Given the description of an element on the screen output the (x, y) to click on. 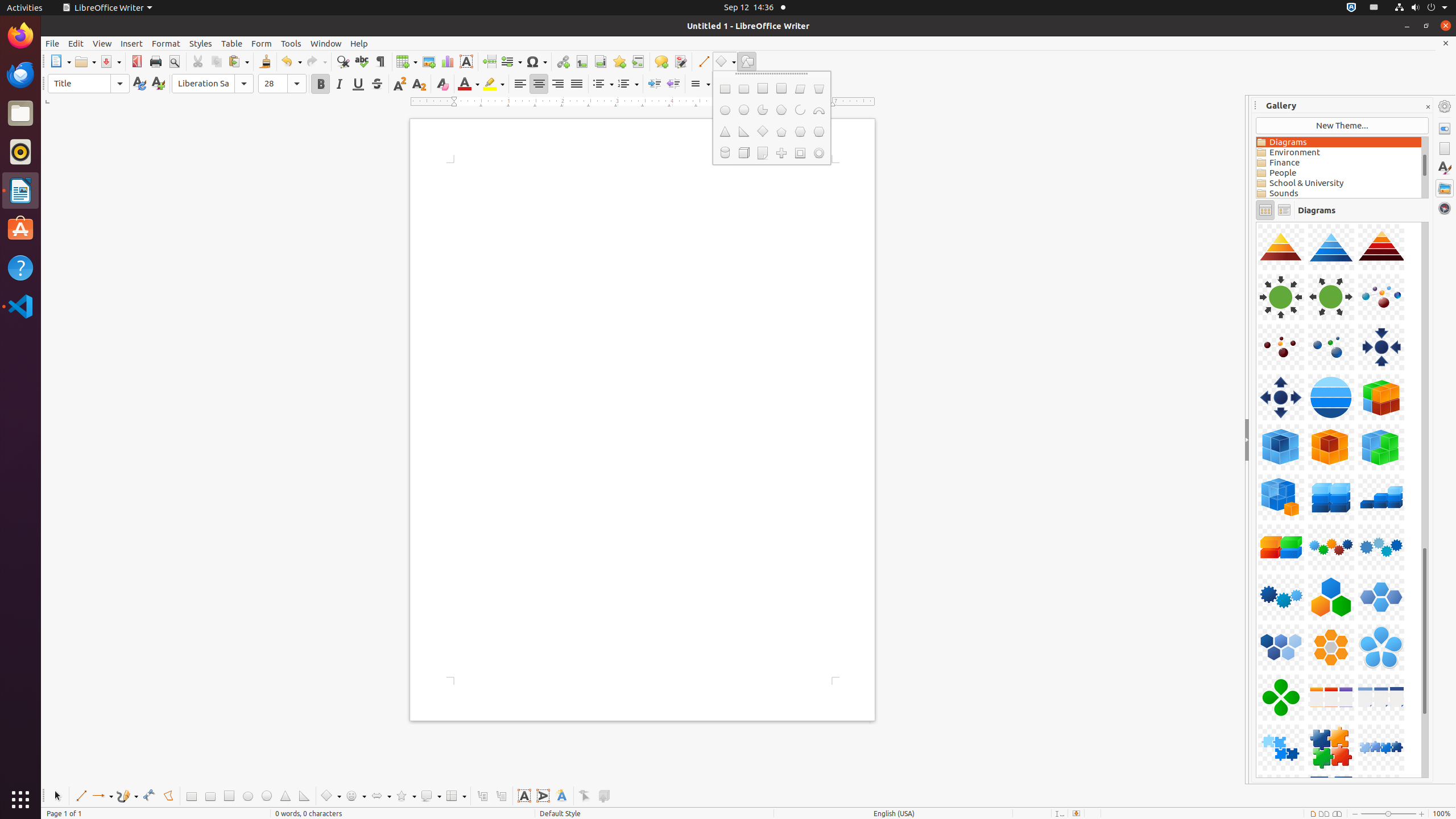
Paragraph Style Element type: combo-box (88, 83)
Strikethrough Element type: toggle-button (376, 83)
Fontwork Style Element type: toggle-button (561, 795)
Component-Cuboid01-DarkBlue Element type: list-item (1256, 222)
Environment Element type: list-item (1338, 152)
